Given the description of an element on the screen output the (x, y) to click on. 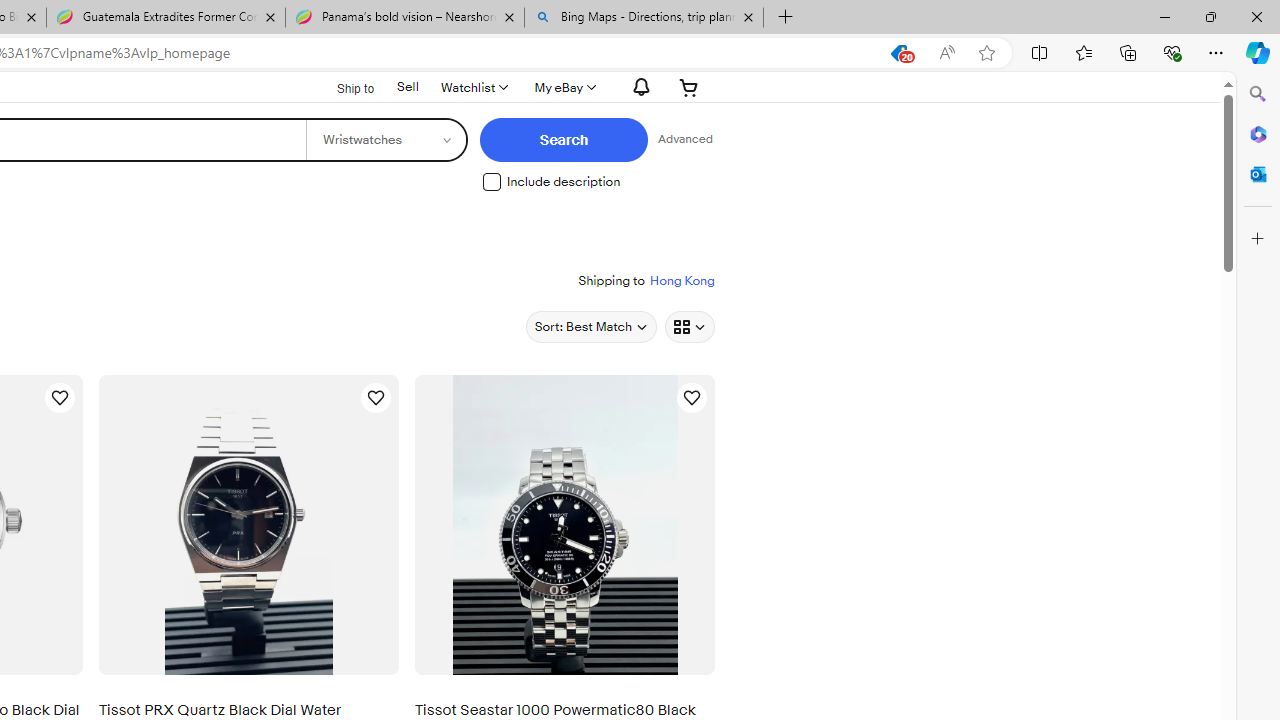
WatchlistExpand Watch List (473, 87)
Ship to (343, 85)
Your shopping cart (688, 87)
